Given the description of an element on the screen output the (x, y) to click on. 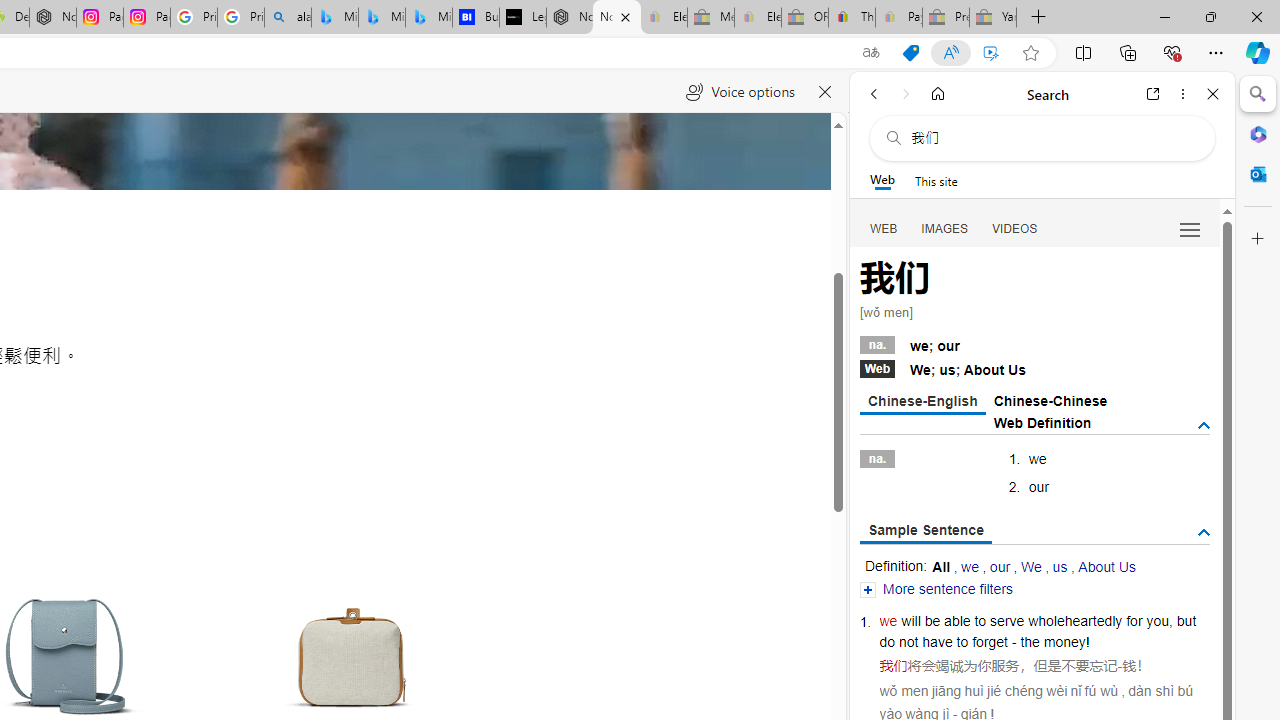
AutomationID: tgdef_sen (1203, 533)
Yard, Garden & Outdoor Living - Sleeping (993, 17)
We (1030, 566)
wholeheartedly (1074, 620)
Enhance video (991, 53)
forget (989, 642)
